Given the description of an element on the screen output the (x, y) to click on. 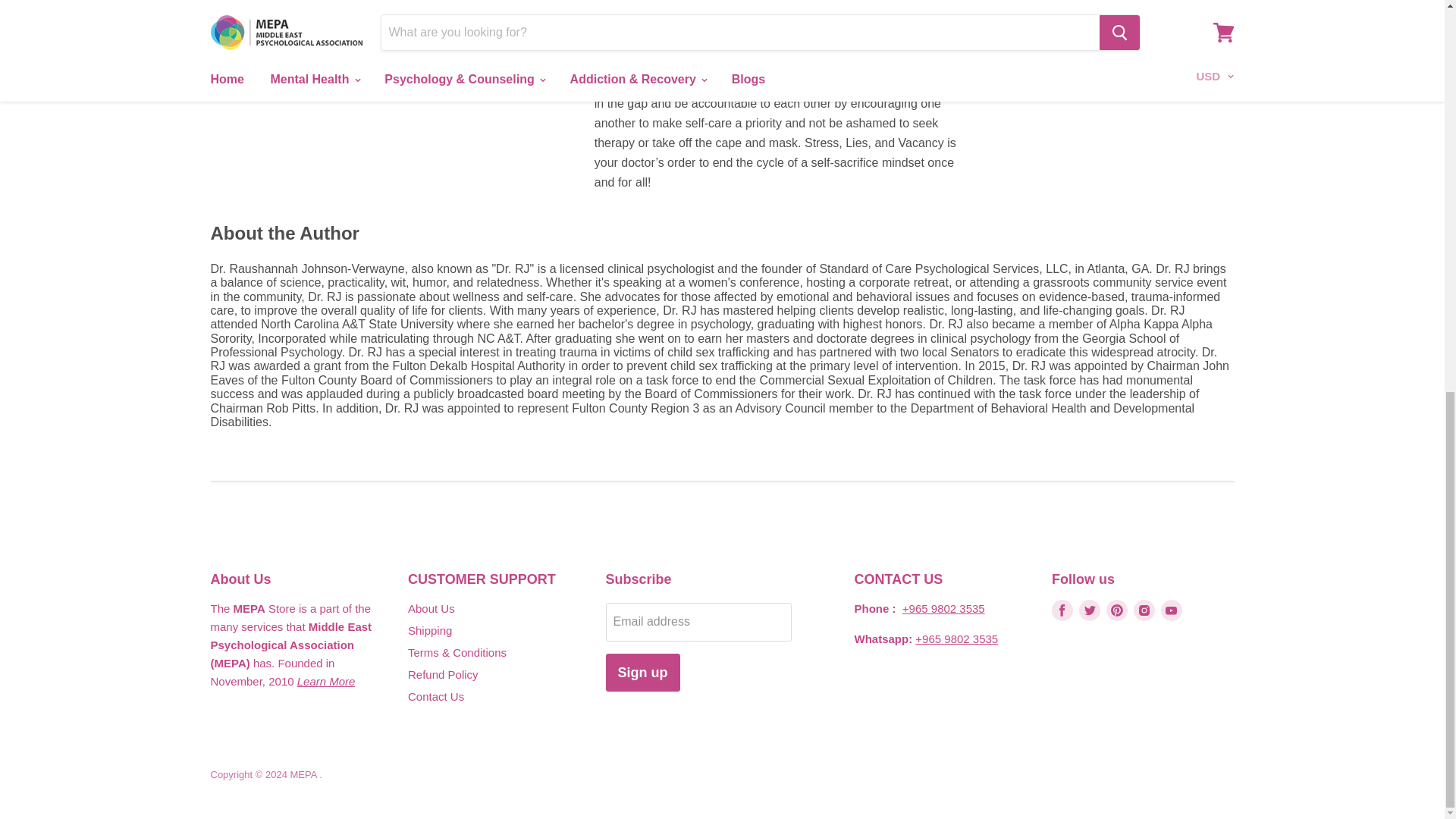
Instagram (1144, 610)
Pinterest (1117, 610)
Facebook (1061, 610)
Youtube (1171, 610)
Twitter (1089, 610)
About Us (326, 680)
